Given the description of an element on the screen output the (x, y) to click on. 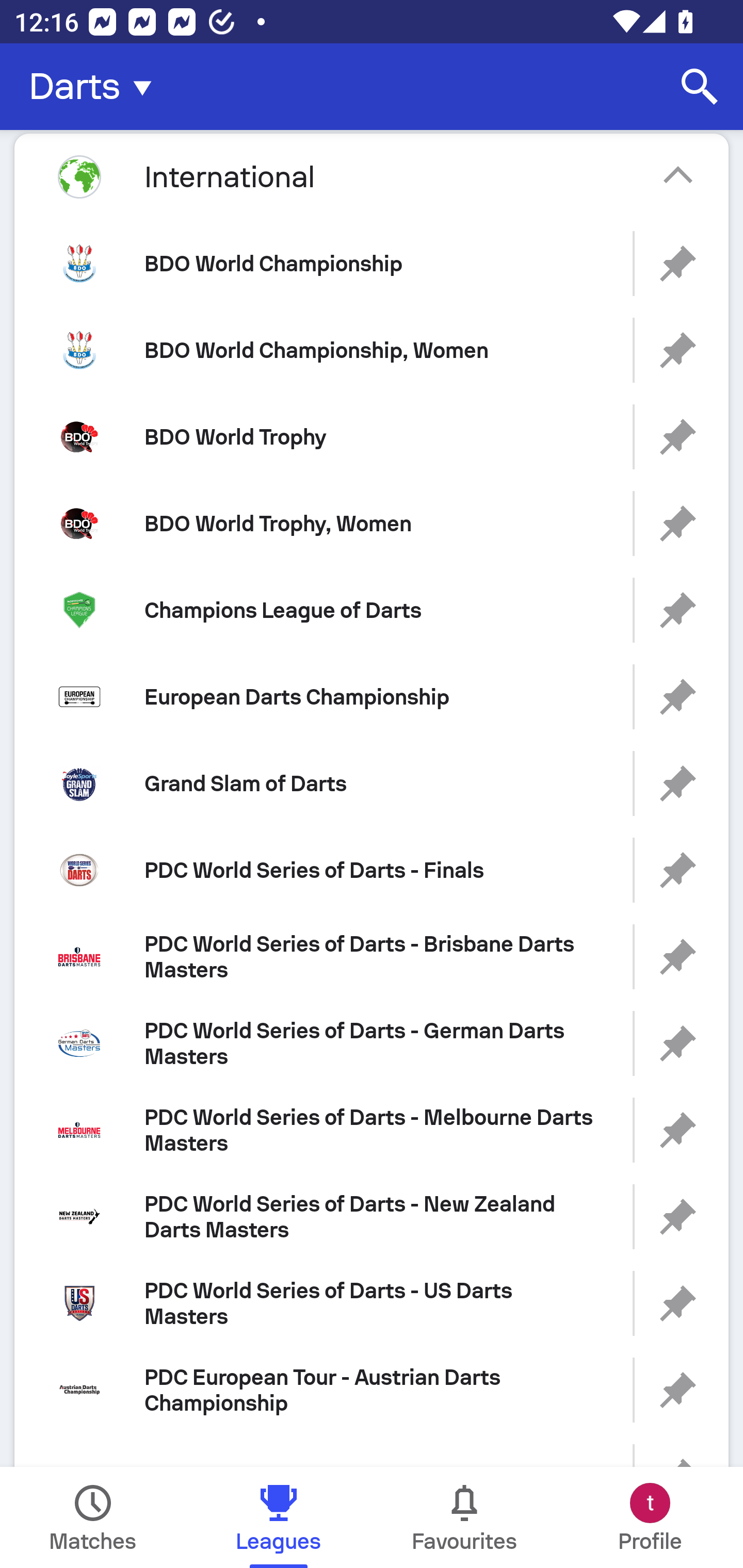
Darts (96, 86)
Search (699, 86)
International (371, 176)
BDO World Championship (371, 263)
BDO World Championship, Women (371, 350)
BDO World Trophy (371, 436)
BDO World Trophy, Women (371, 523)
Champions League of Darts (371, 610)
European Darts Championship (371, 696)
Grand Slam of Darts (371, 783)
PDC World Series of Darts - Finals (371, 870)
PDC World Series of Darts - Brisbane Darts Masters (371, 957)
PDC World Series of Darts - German Darts Masters (371, 1043)
PDC World Series of Darts - US Darts Masters (371, 1303)
PDC European Tour - Austrian Darts Championship (371, 1389)
Matches (92, 1517)
Favourites (464, 1517)
Profile (650, 1517)
